Given the description of an element on the screen output the (x, y) to click on. 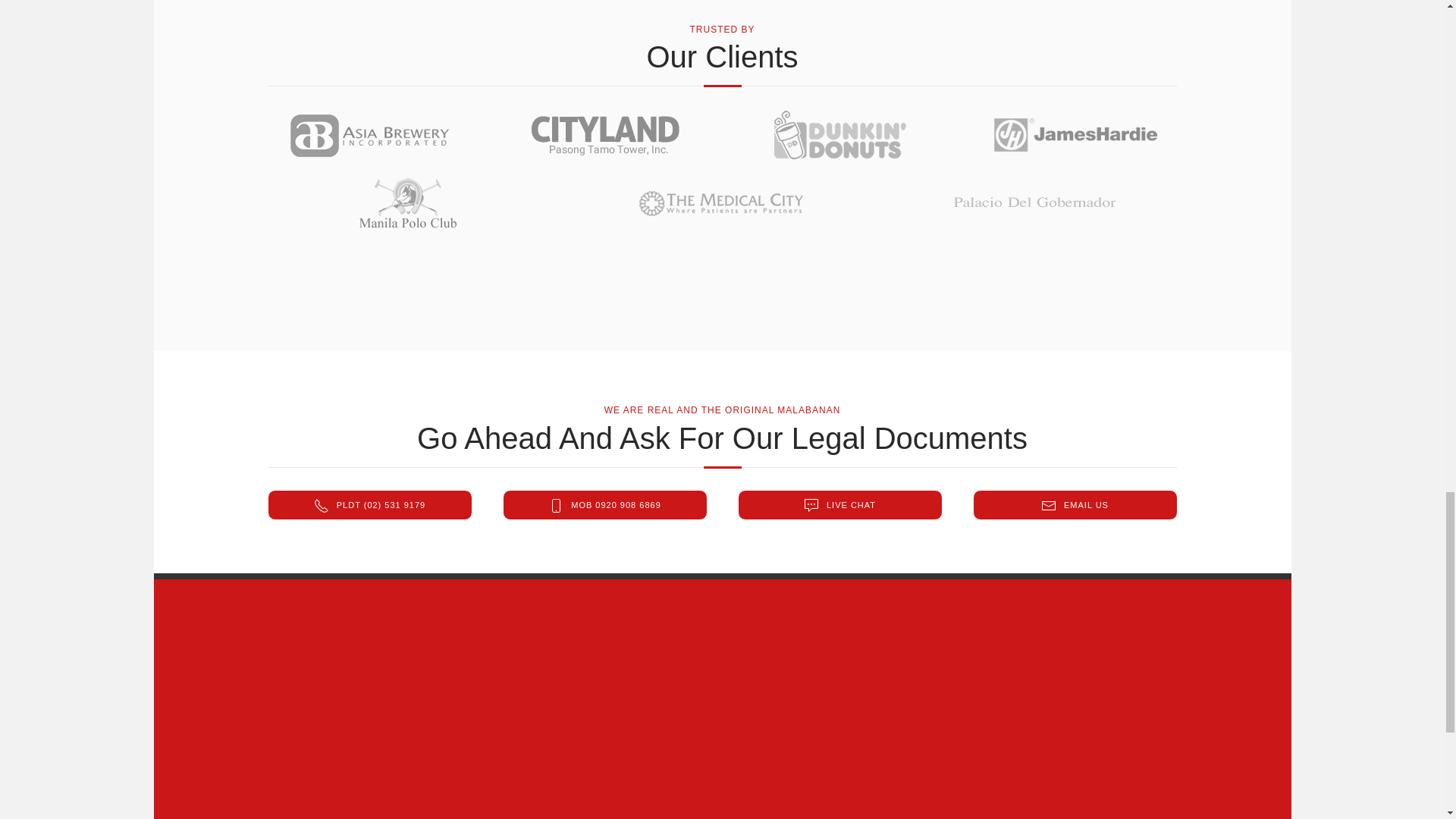
LIVE CHAT (839, 504)
MOB 0920 908 6869 (604, 504)
EMAIL US (1074, 504)
